Given the description of an element on the screen output the (x, y) to click on. 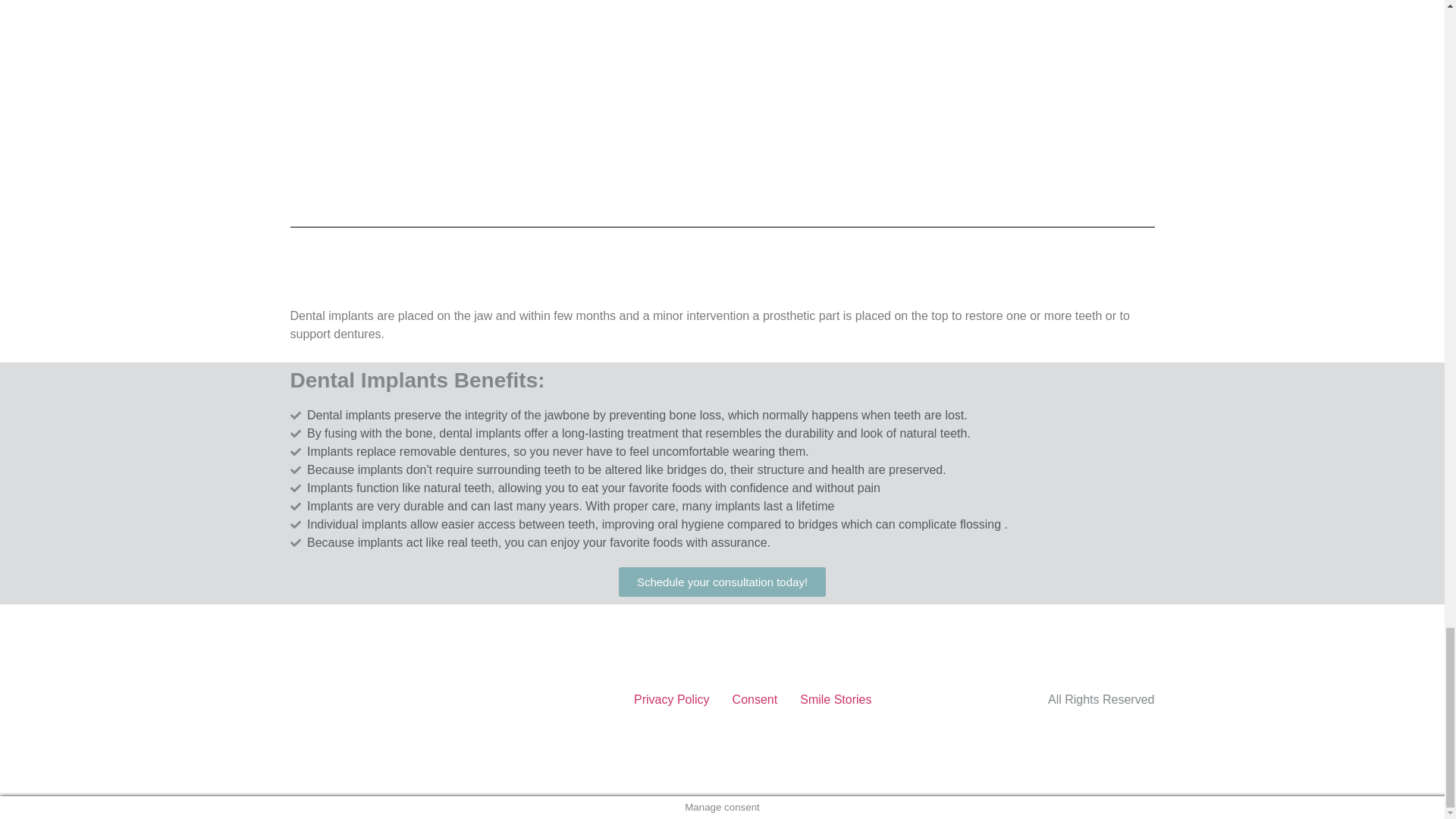
Smile Stories (835, 699)
Privacy Policy (671, 699)
Schedule your consultation today! (721, 582)
Consent (754, 699)
